Given the description of an element on the screen output the (x, y) to click on. 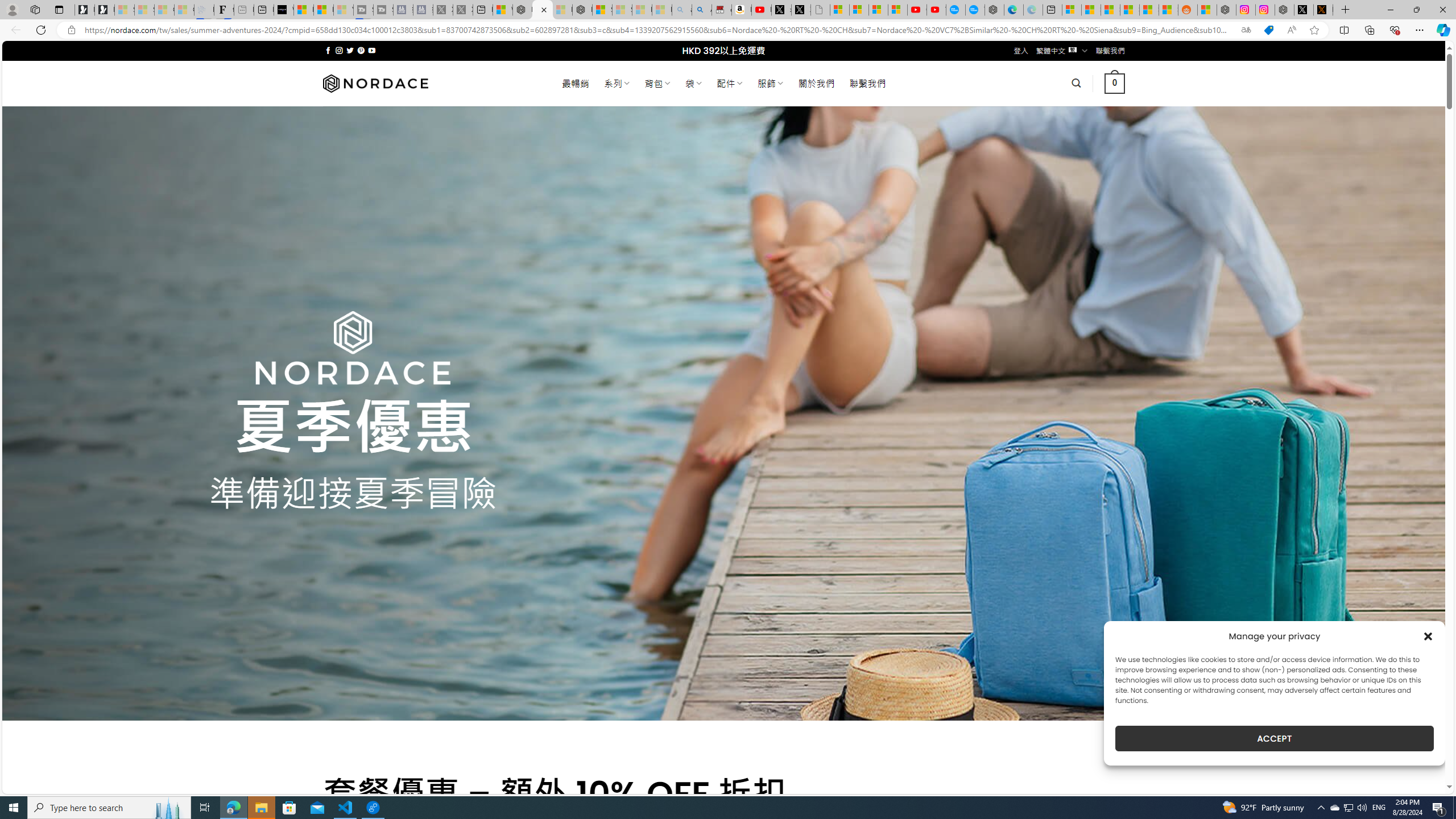
Nordace - Nordace has arrived Hong Kong (994, 9)
 0  (1115, 83)
Address and search bar (658, 29)
Shanghai, China hourly forecast | Microsoft Weather (1110, 9)
What's the best AI voice generator? - voice.ai (283, 9)
